Given the description of an element on the screen output the (x, y) to click on. 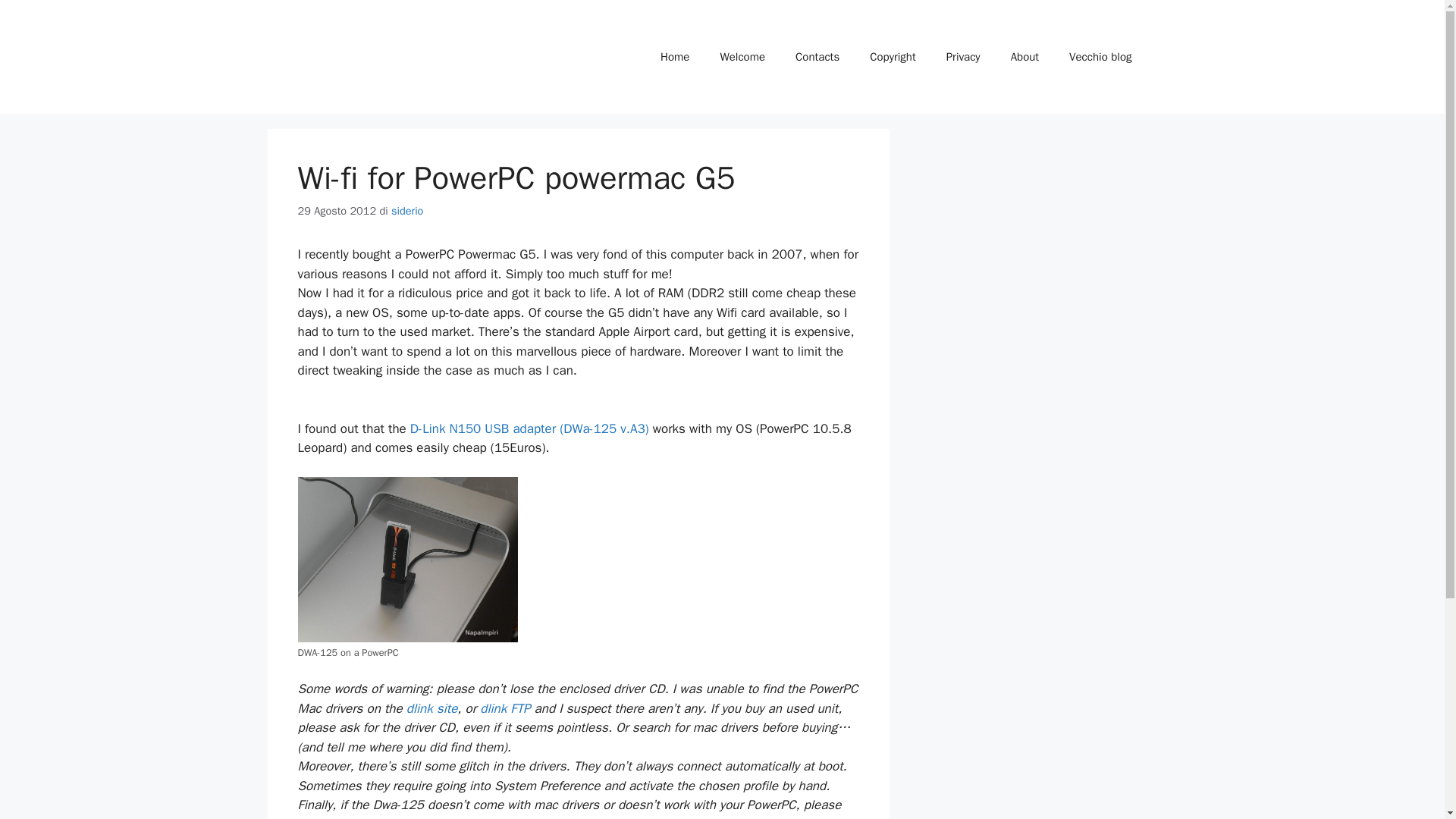
Visualizza tutti gli articoli di siderio (407, 210)
siderio (407, 210)
Dlink N150 dwa-125 page (529, 428)
Dlink support page for dwa-125 (432, 708)
Welcome (742, 56)
DWA-125 on a PowerPC (406, 559)
Dlink ftp site for dwa-125 (502, 708)
About (1024, 56)
Contacts (817, 56)
Copyright (892, 56)
